Given the description of an element on the screen output the (x, y) to click on. 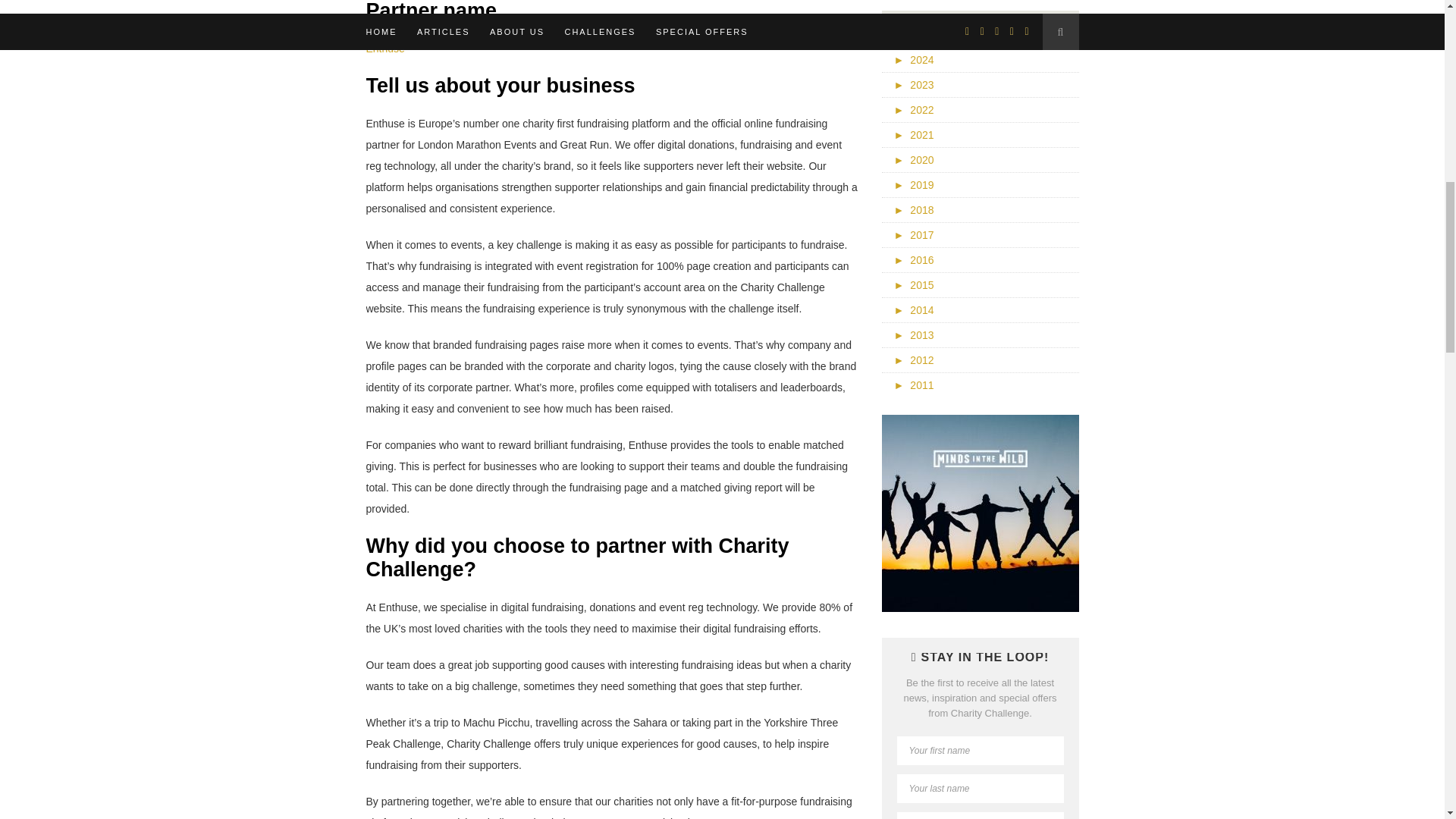
2023 (913, 84)
2024 (913, 60)
Enthuse (384, 48)
